Given the description of an element on the screen output the (x, y) to click on. 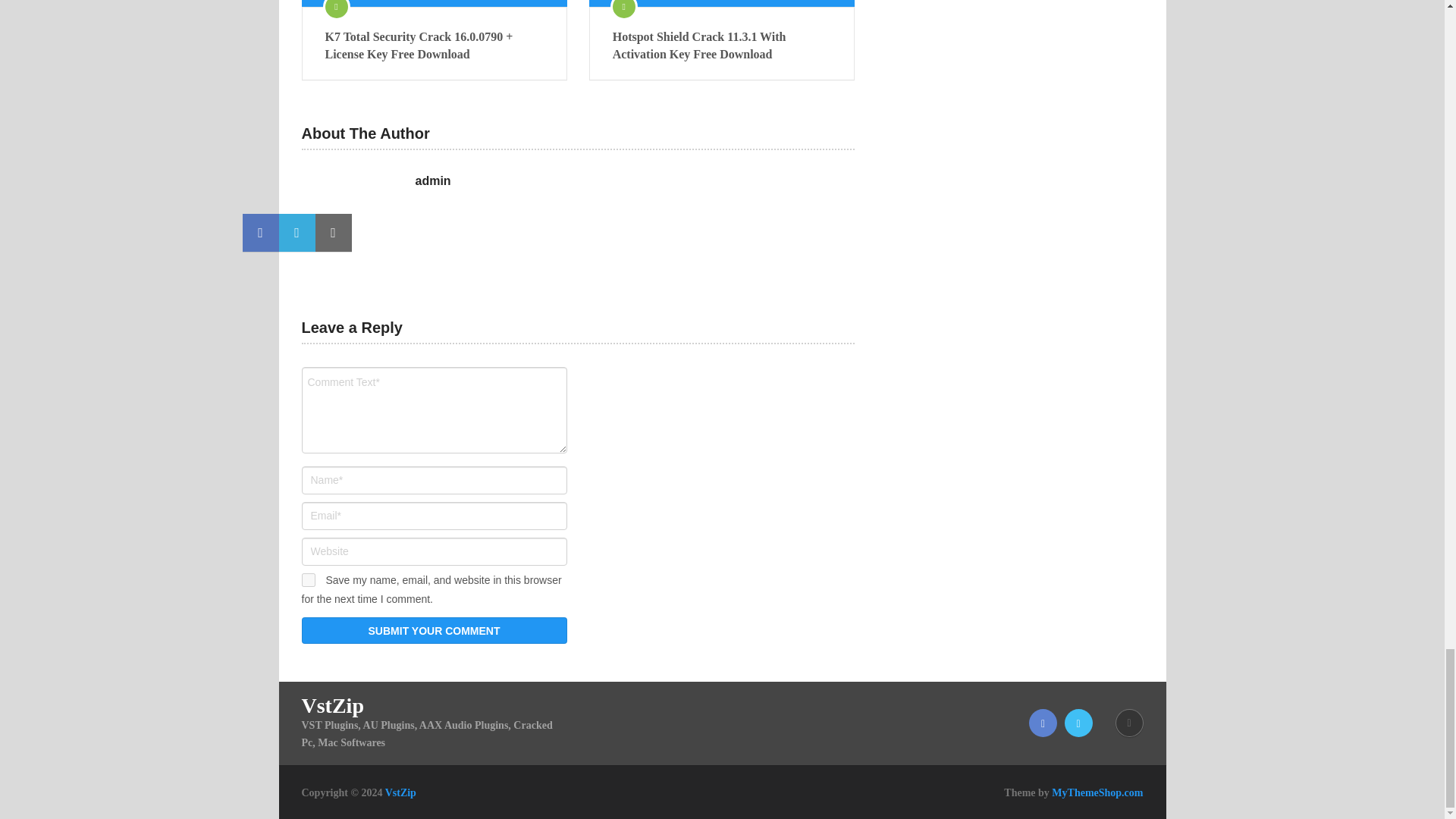
admin (432, 180)
yes (308, 580)
Submit Your Comment (434, 630)
Submit Your Comment (434, 630)
